Given the description of an element on the screen output the (x, y) to click on. 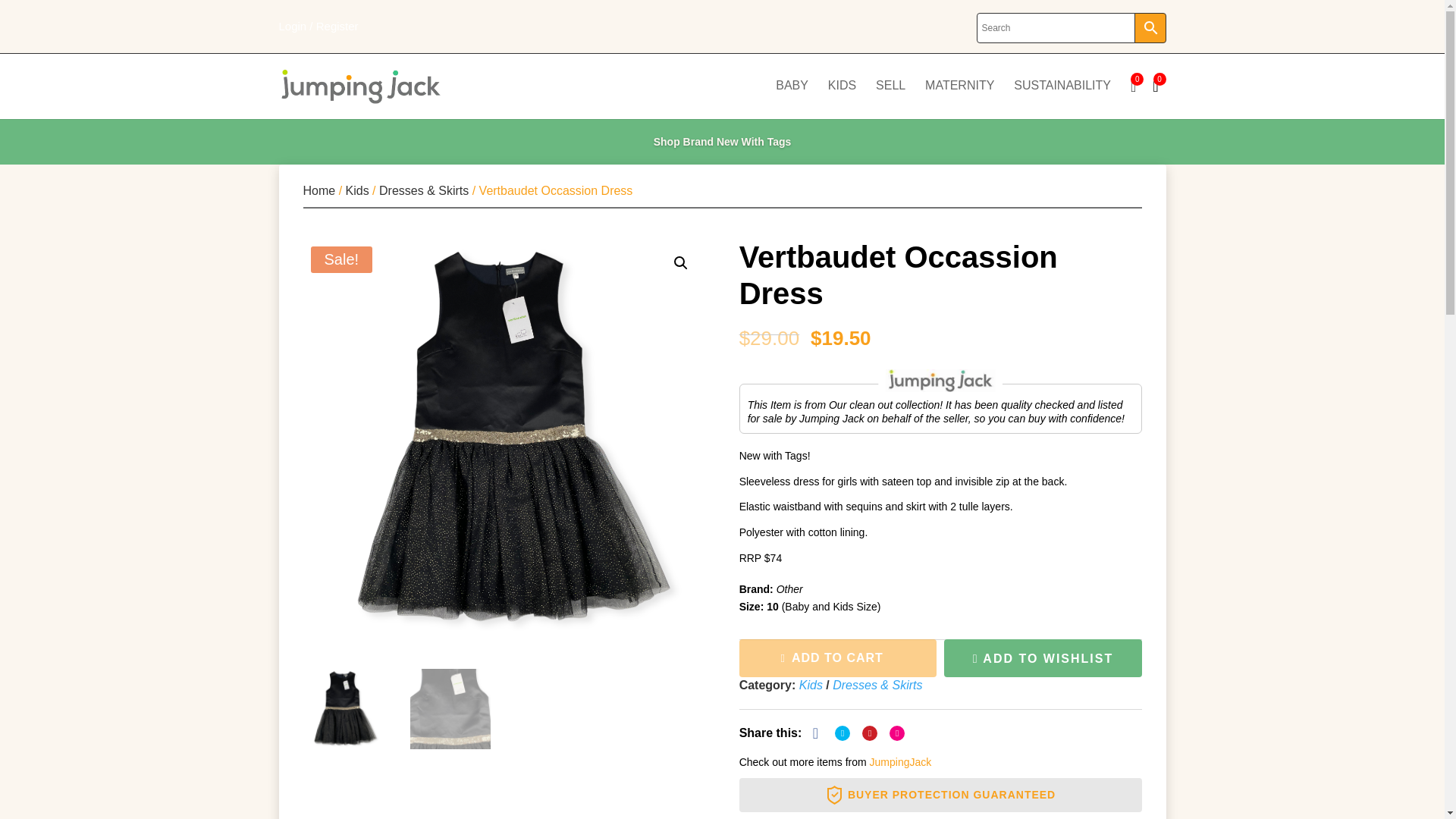
Share Vertbaudet Occassion Dress on Twitter (842, 733)
Kids (357, 190)
Home (319, 190)
MATERNITY (959, 98)
ADD TO WISHLIST (1042, 658)
Share Vertbaudet Occassion Dress on Pinterest (869, 733)
Share Vertbaudet Occassion Dress on Facebook (815, 733)
Share Vertbaudet Occassion Dress on Email (896, 733)
SUSTAINABILITY (1061, 98)
ADD TO CART (837, 658)
